Given the description of an element on the screen output the (x, y) to click on. 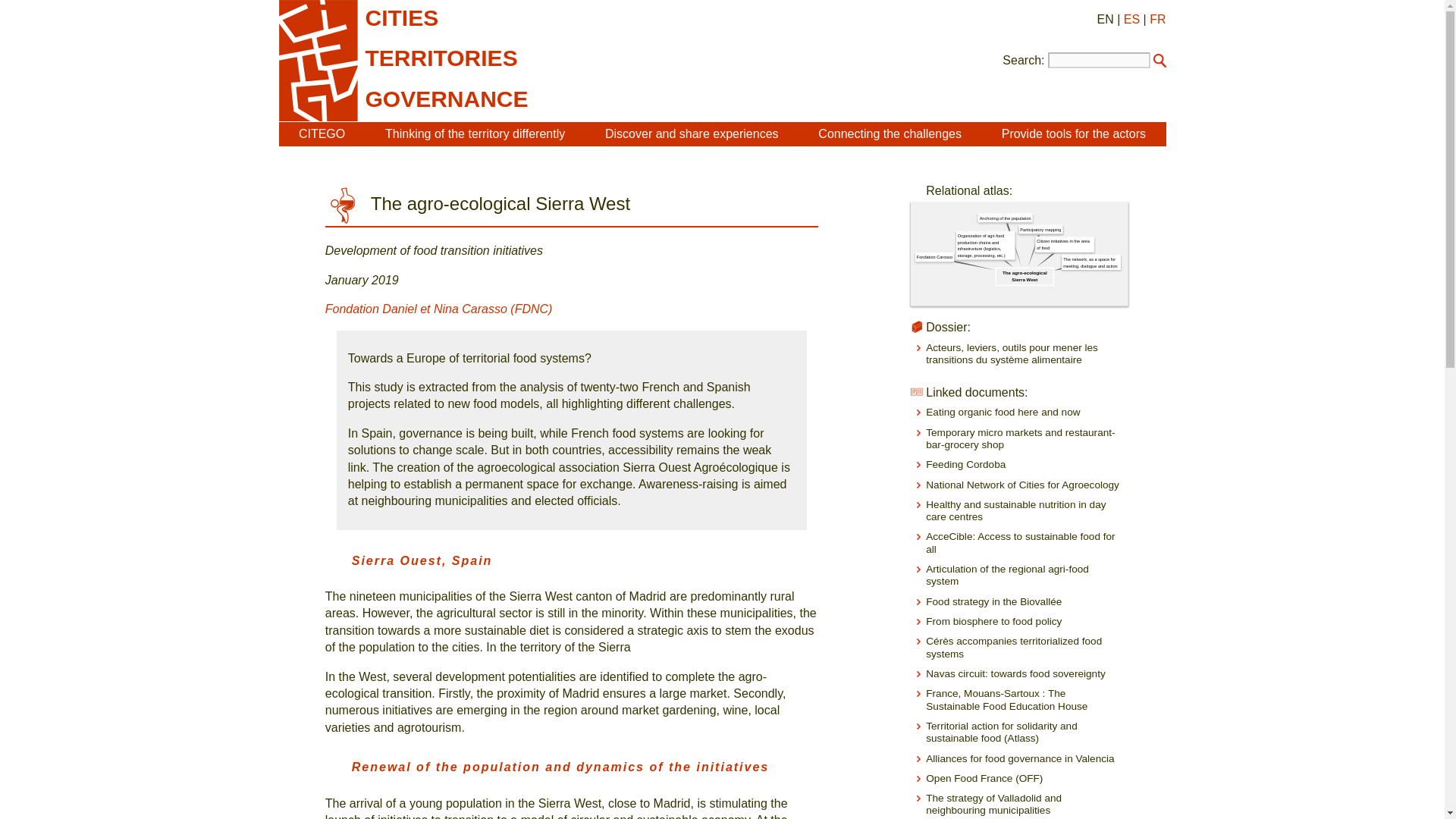
Provide tools for the actors (1073, 133)
The agro-ecological Sierra West (1059, 285)
Thinking of the territory differently (474, 133)
Connecting the challenges (889, 133)
Feeding Cordoba (966, 464)
ES (1132, 19)
Anchoring of the population (1045, 222)
Fondation Carosso (963, 260)
Discover and share experiences (691, 133)
Participatory mapping (1072, 233)
